Given the description of an element on the screen output the (x, y) to click on. 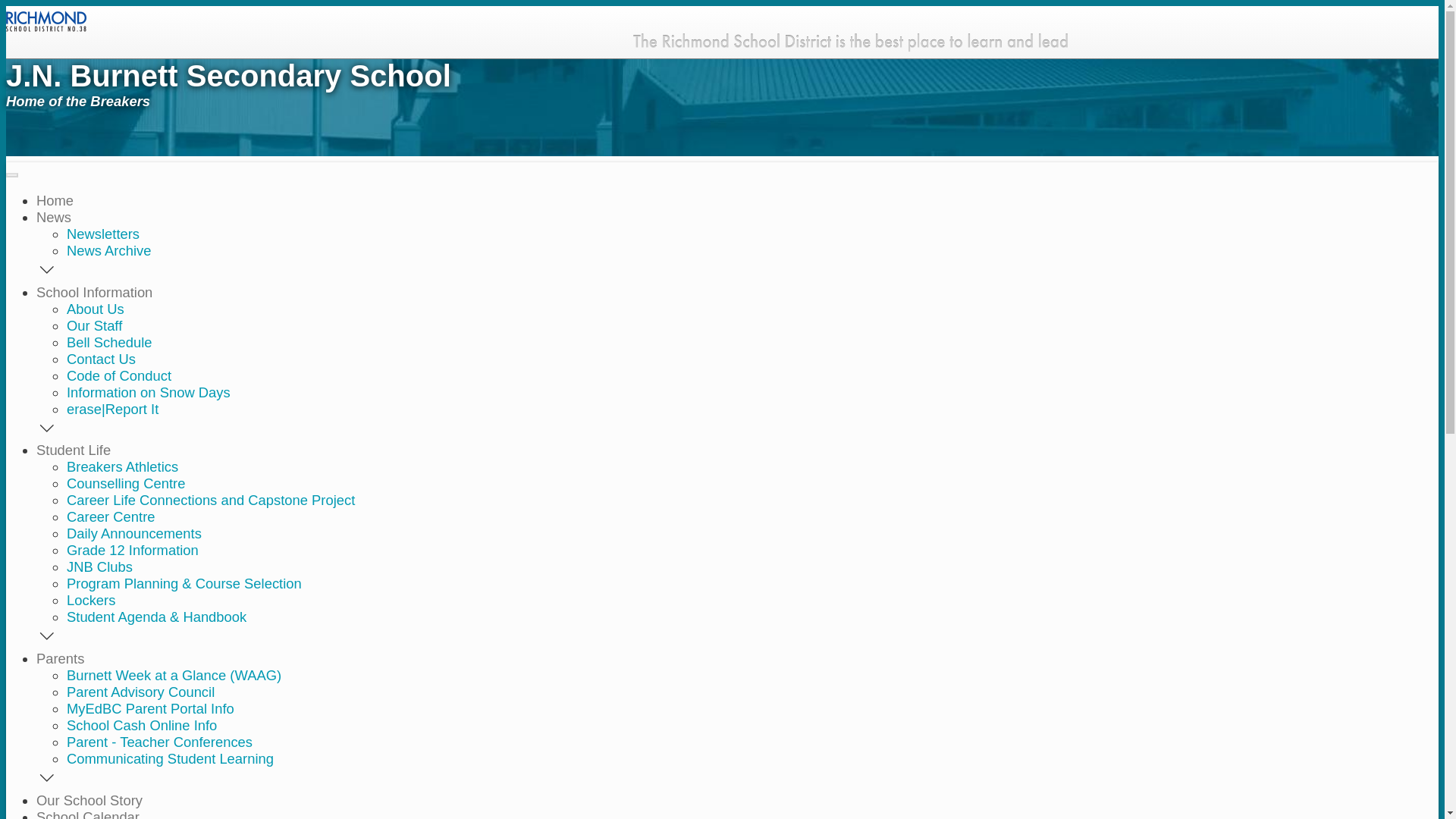
Grade 12 Information Element type: text (132, 550)
Student Life Element type: text (73, 450)
School Cash Online Info Element type: text (141, 725)
Skip to main content Element type: text (722, 7)
Breakers Athletics Element type: text (122, 466)
Newsletters Element type: text (102, 233)
Information on Snow Days Element type: text (148, 392)
Code of Conduct Element type: text (118, 375)
erase|Report It Element type: text (112, 409)
Student Agenda & Handbook Element type: text (156, 616)
J.N. Burnett Secondary School Element type: text (536, 84)
Daily Announcements Element type: text (133, 533)
Burnett Week at a Glance (WAAG) Element type: text (173, 675)
Lockers Element type: text (90, 600)
MyEdBC Parent Portal Info Element type: text (150, 708)
Career Centre Element type: text (110, 516)
Our School Story Element type: text (89, 800)
Communicating Student Learning Element type: text (169, 758)
Our Staff Element type: text (94, 325)
News Archive Element type: text (108, 250)
Counselling Centre Element type: text (125, 483)
Contact Us Element type: text (100, 359)
Parents Element type: text (60, 658)
Parent Advisory Council Element type: text (140, 691)
JNB Clubs Element type: text (99, 566)
Parent - Teacher Conferences Element type: text (159, 741)
School Information Element type: text (94, 292)
Home Element type: text (54, 200)
Career Life Connections and Capstone Project Element type: text (210, 500)
News Element type: text (53, 217)
Program Planning & Course Selection Element type: text (183, 583)
Bell Schedule Element type: text (108, 342)
District Logo Element type: text (46, 18)
About Us Element type: text (95, 308)
